Given the description of an element on the screen output the (x, y) to click on. 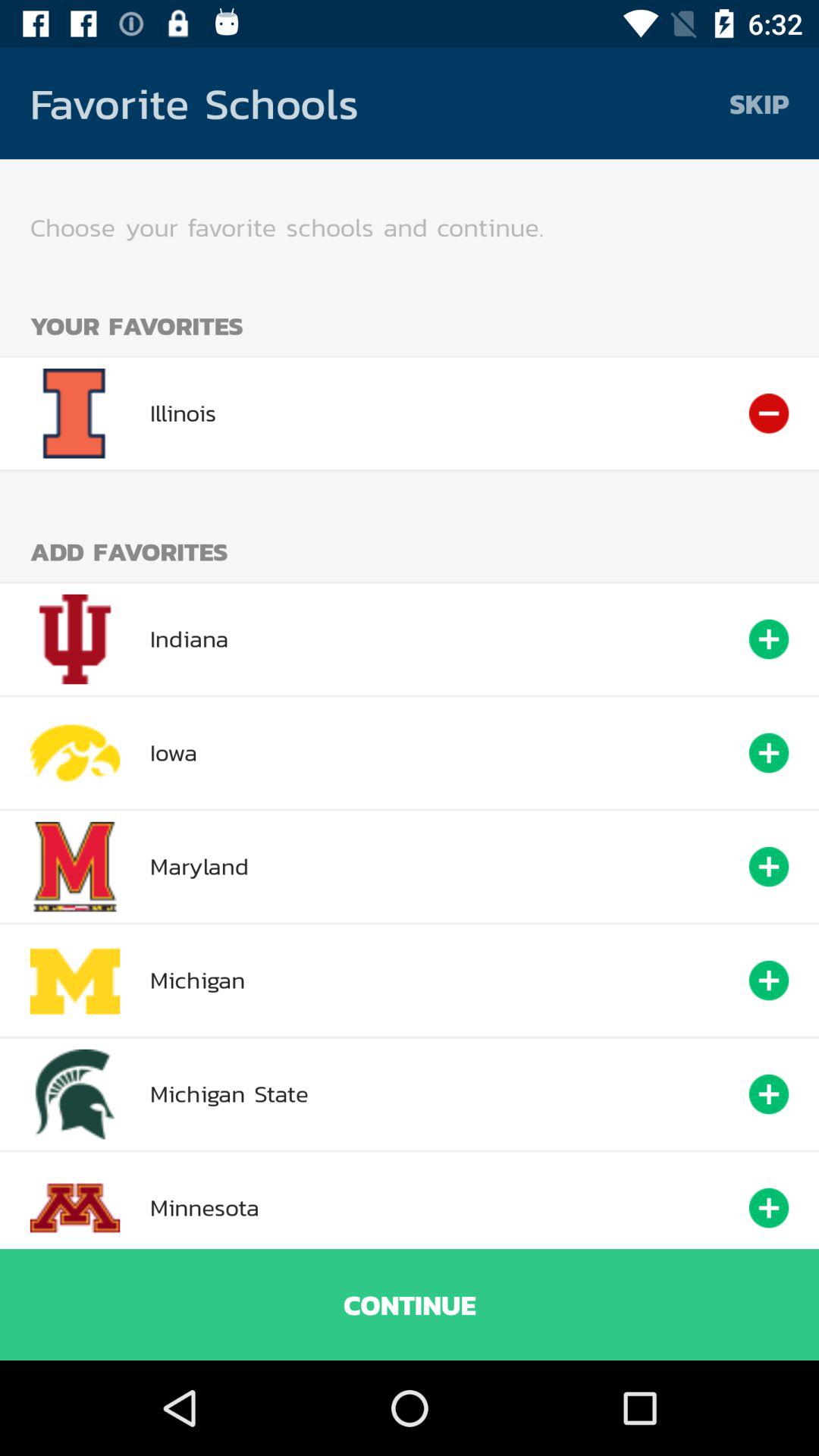
select the item to the right of the favorite schools item (758, 103)
